Given the description of an element on the screen output the (x, y) to click on. 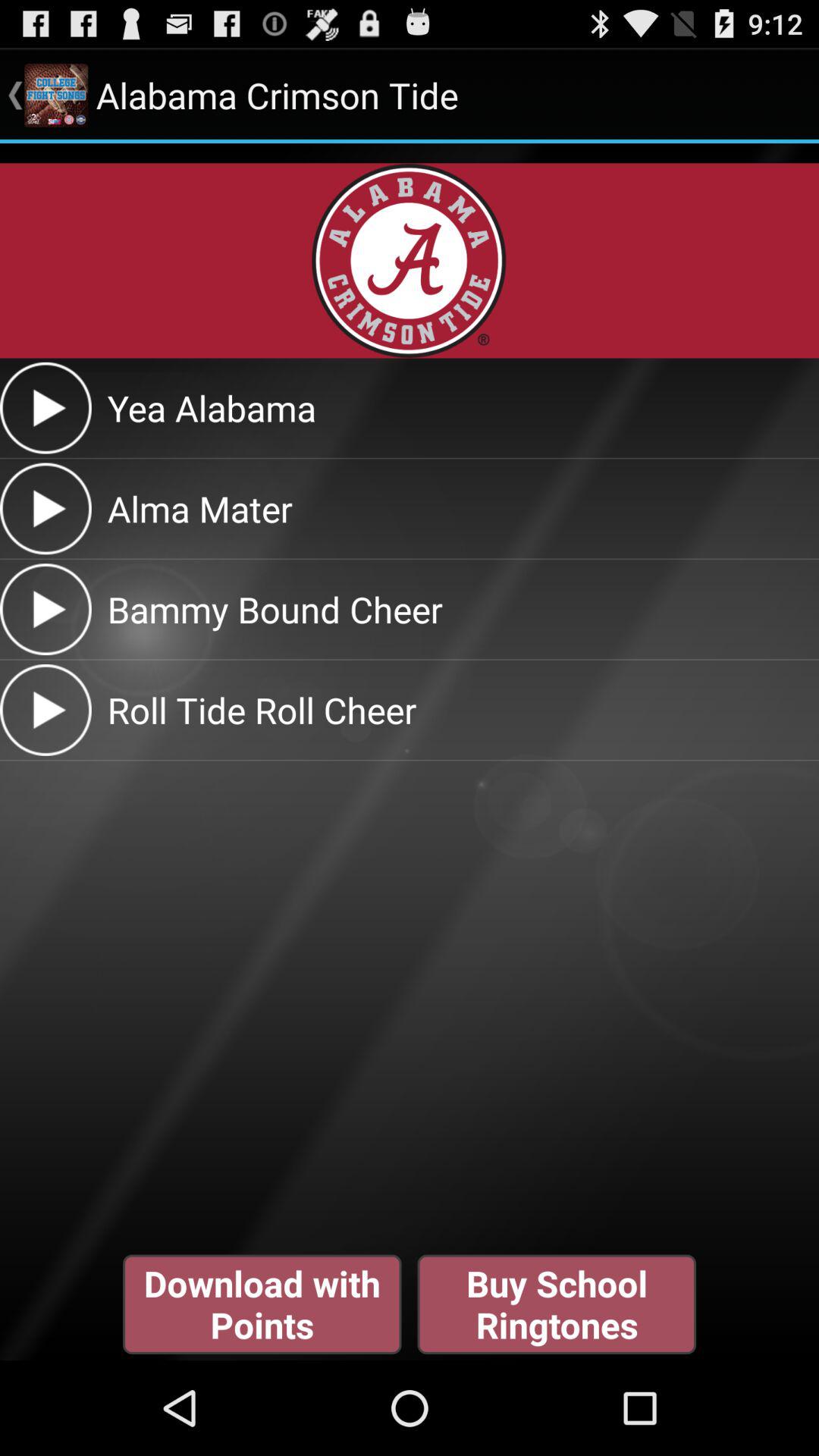
play audio (45, 508)
